Given the description of an element on the screen output the (x, y) to click on. 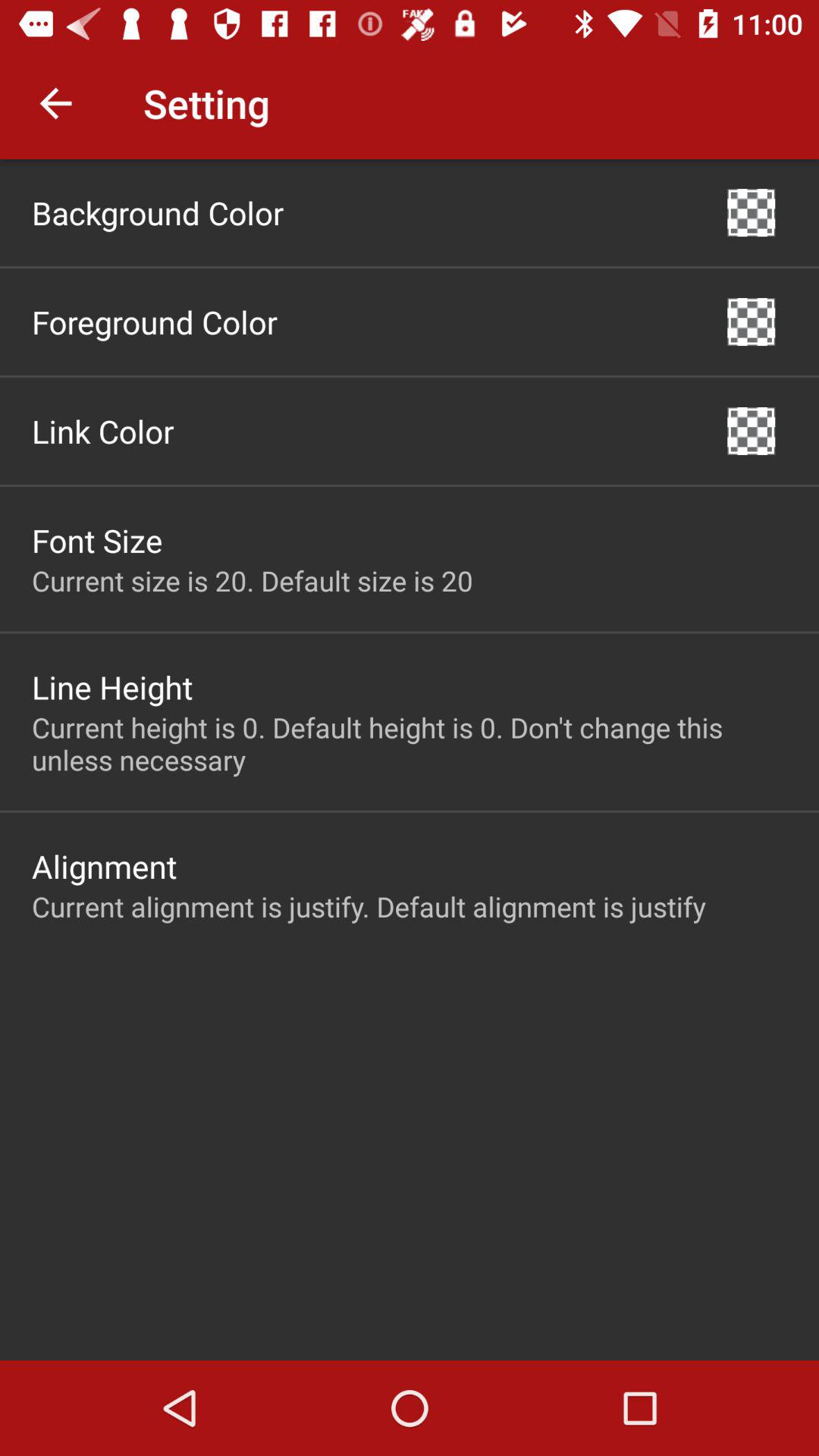
scroll to the line height icon (111, 686)
